Given the description of an element on the screen output the (x, y) to click on. 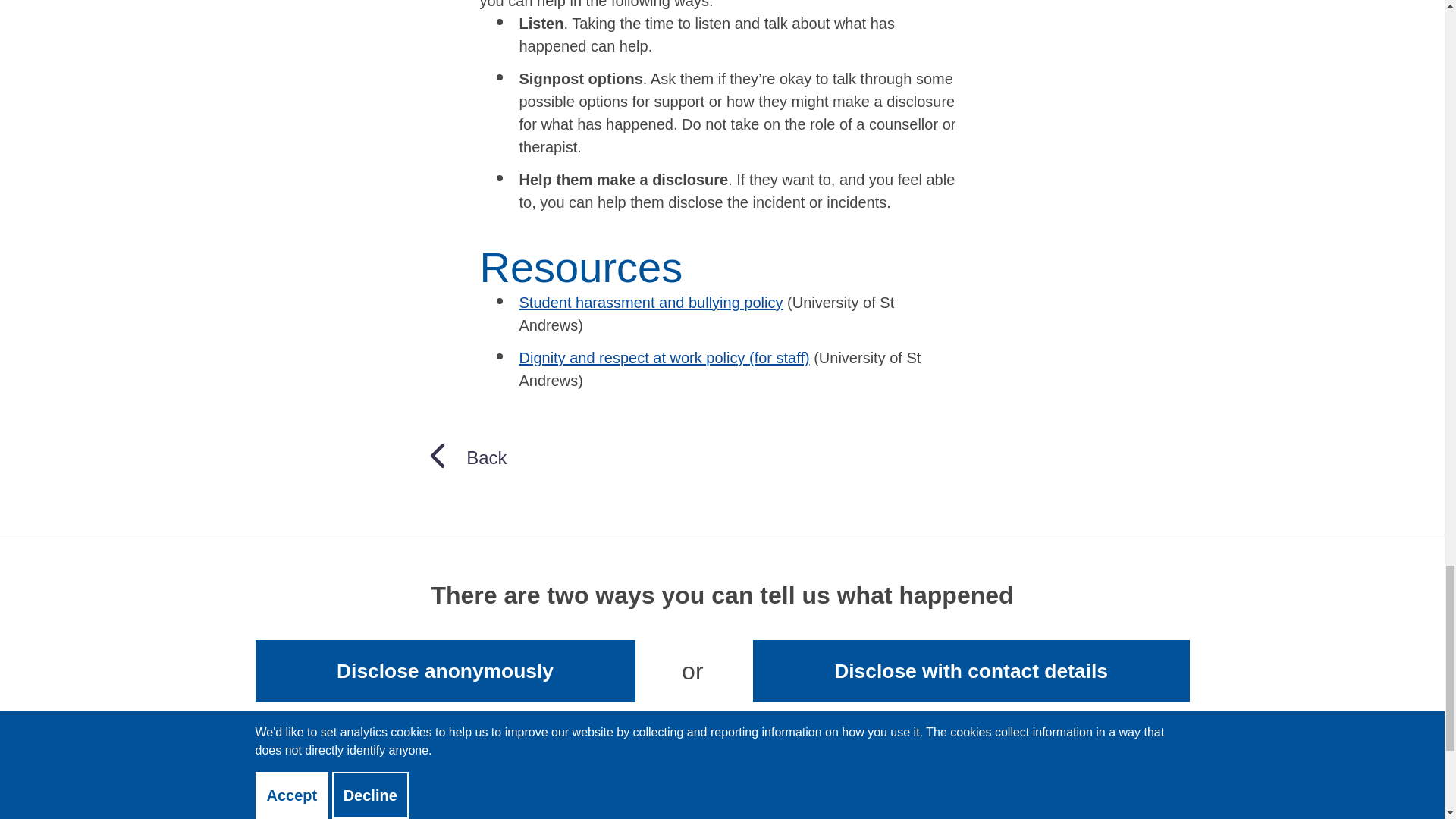
Disclose anonymously (444, 670)
Disclose with contact details (970, 670)
Back (465, 457)
Student harassment and bullying policy (650, 302)
